Given the description of an element on the screen output the (x, y) to click on. 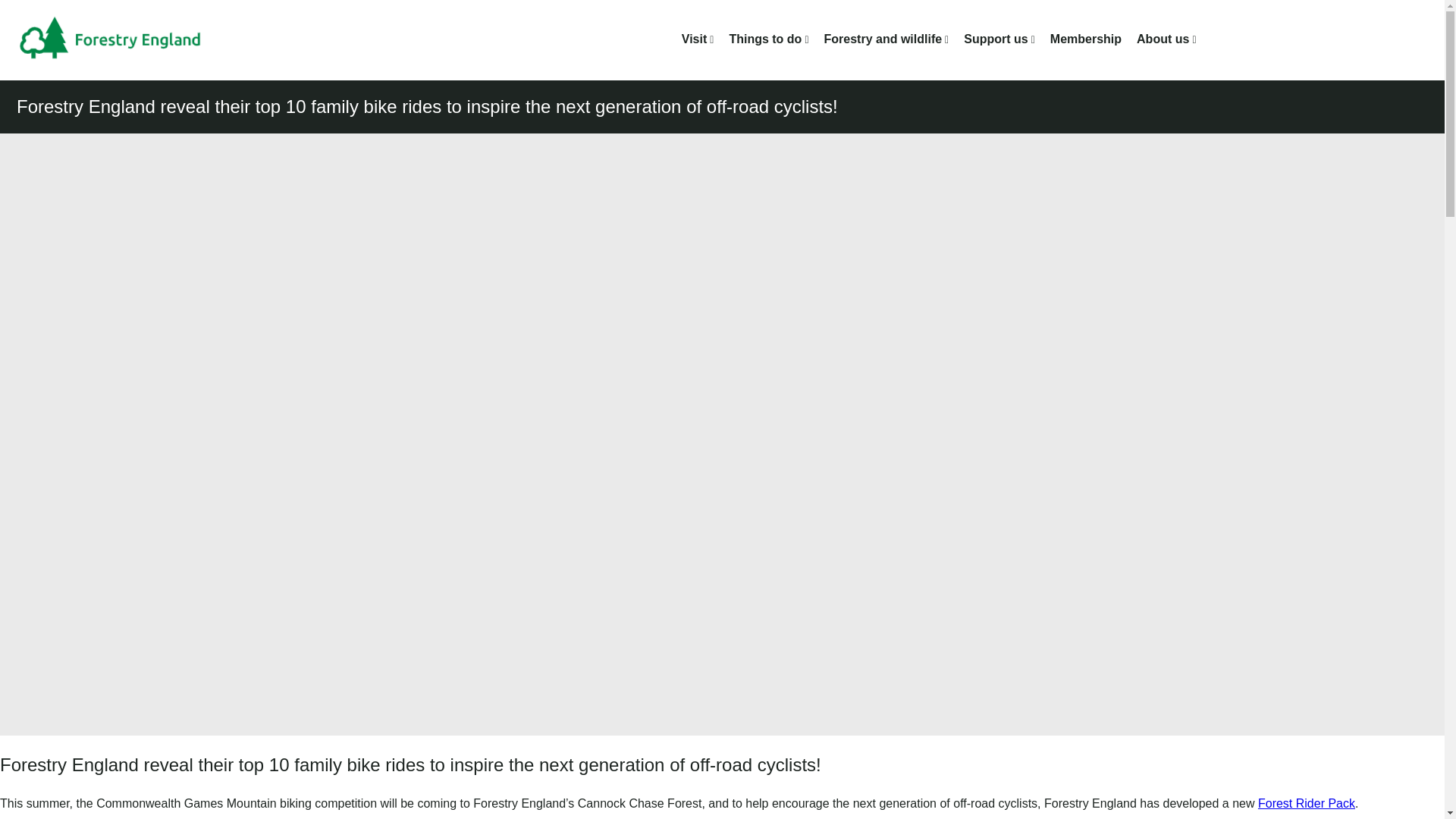
Forestry and wildlife (883, 38)
Home (120, 40)
Things to do (765, 38)
Visit (694, 38)
